Given the description of an element on the screen output the (x, y) to click on. 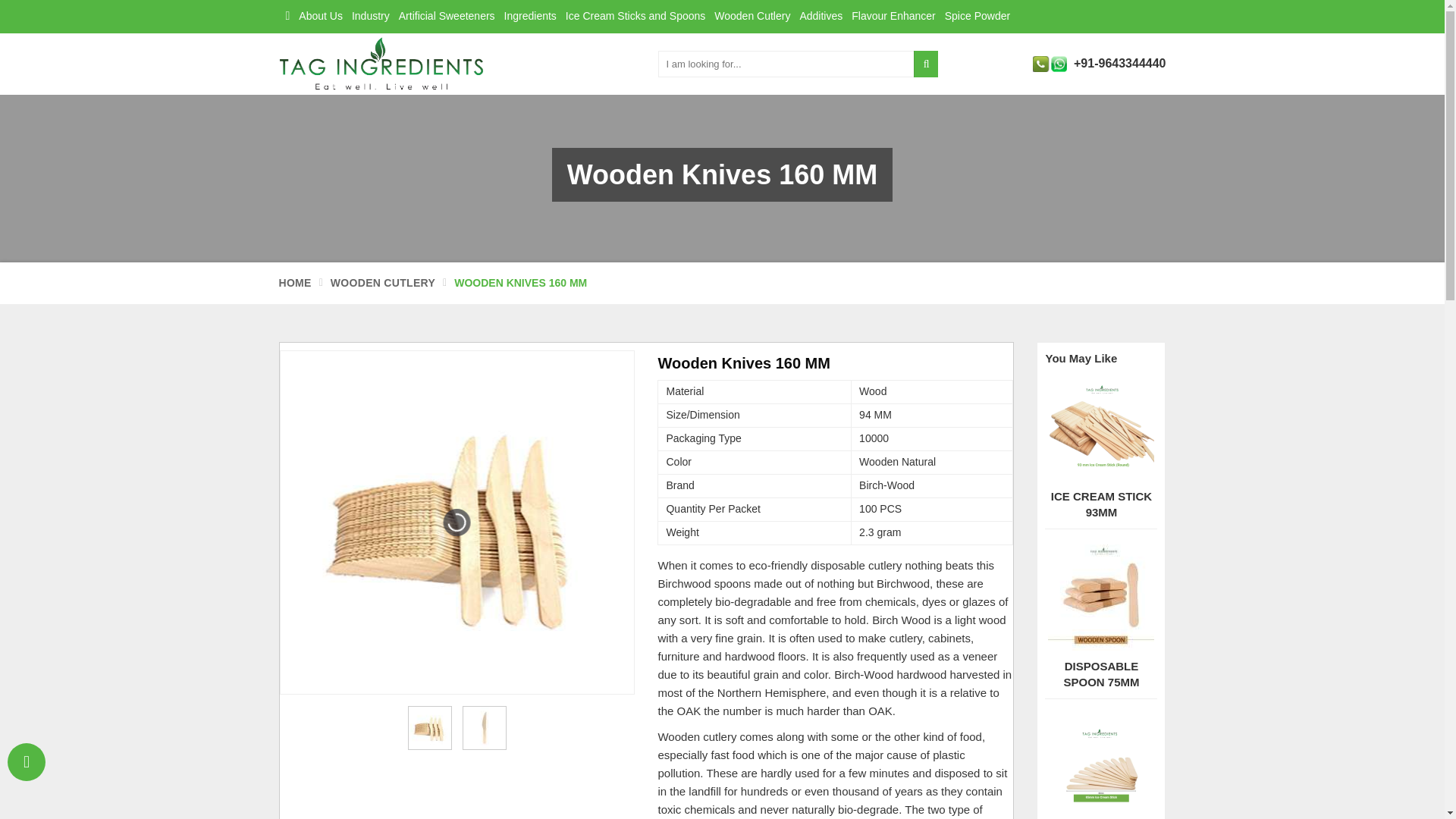
Tag Ingredients India Pvt Ltd (381, 63)
Ice Cream Sticks and Spoons (635, 16)
Spice Powder (977, 16)
Artificial Sweeteners (446, 16)
Industry (370, 16)
WOODEN CUTLERY (382, 282)
DISPOSABLE SPOON 75MM (1101, 674)
ICE CREAM STICK 93MM (1101, 504)
Flavour Enhancer (893, 16)
Wooden Cutlery (752, 16)
Artificial Sweeteners (446, 16)
Industry (370, 16)
Additives (820, 16)
About Us (320, 16)
Ingredients (529, 16)
